Given the description of an element on the screen output the (x, y) to click on. 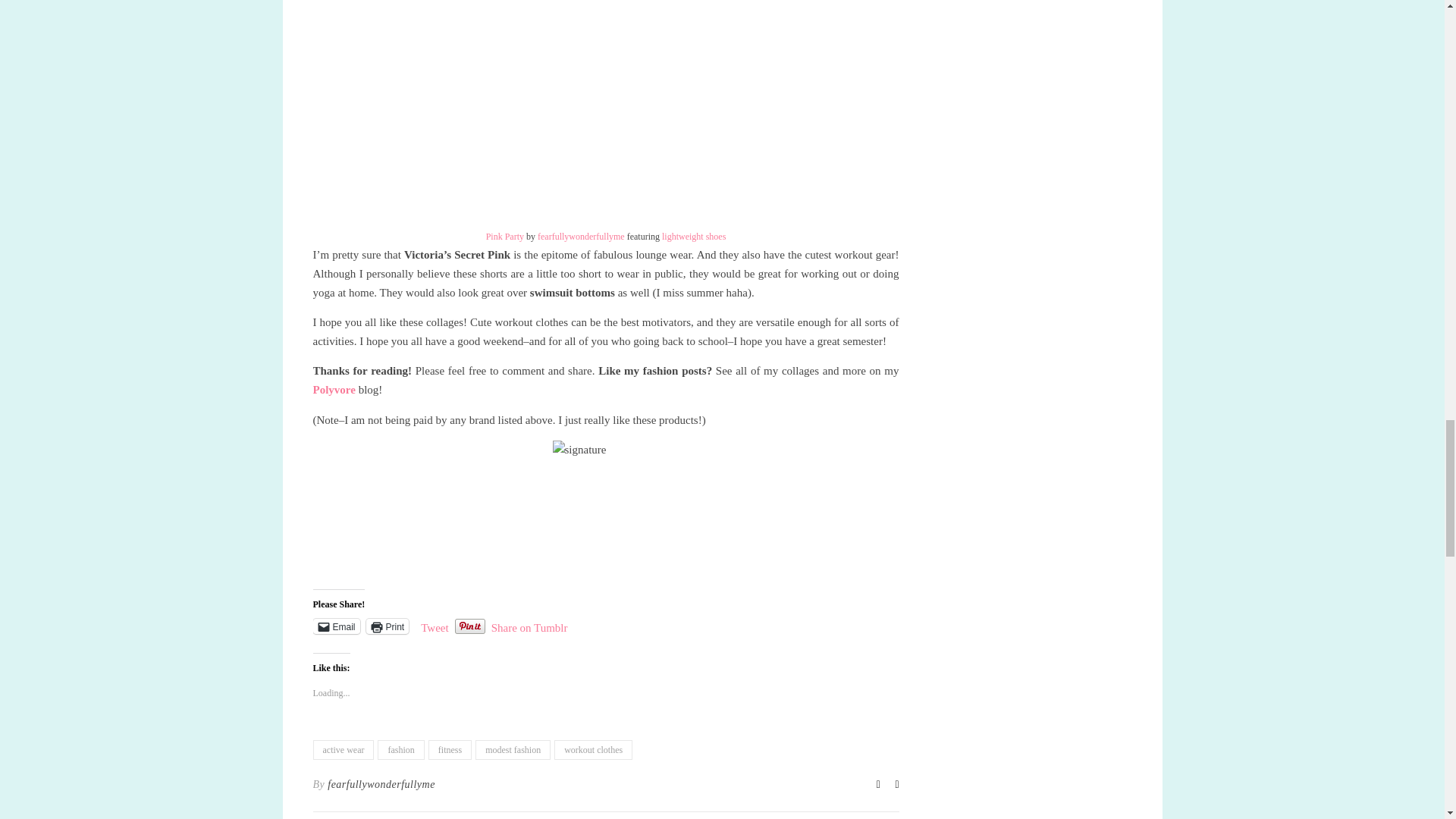
Posts by fearfullywonderfullyme (381, 784)
fashion (400, 750)
fitness (449, 750)
Click to print (387, 626)
active wear (343, 750)
modest fashion (513, 750)
Email (336, 626)
Tweet (434, 625)
Print (387, 626)
Polyvore (335, 389)
